Given the description of an element on the screen output the (x, y) to click on. 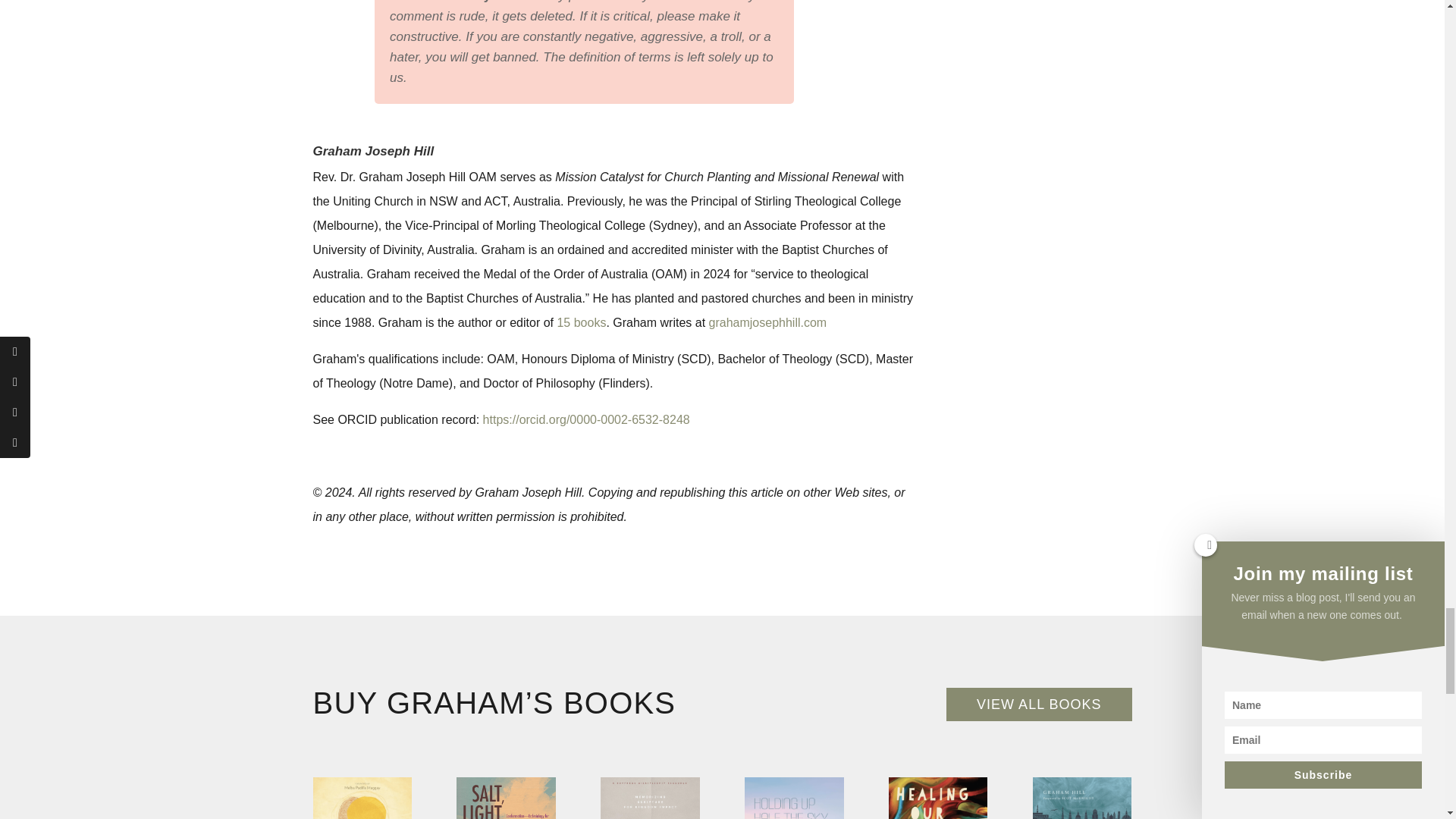
salt-light-and-a-city (505, 798)
Screen-Shot-2020-11-22-at-5.54.20-pm (361, 798)
grahamjosephhill.com (768, 322)
15 books (580, 322)
Screen-Shot-2020-05-10-at-8.46.19-pm (648, 798)
